Given the description of an element on the screen output the (x, y) to click on. 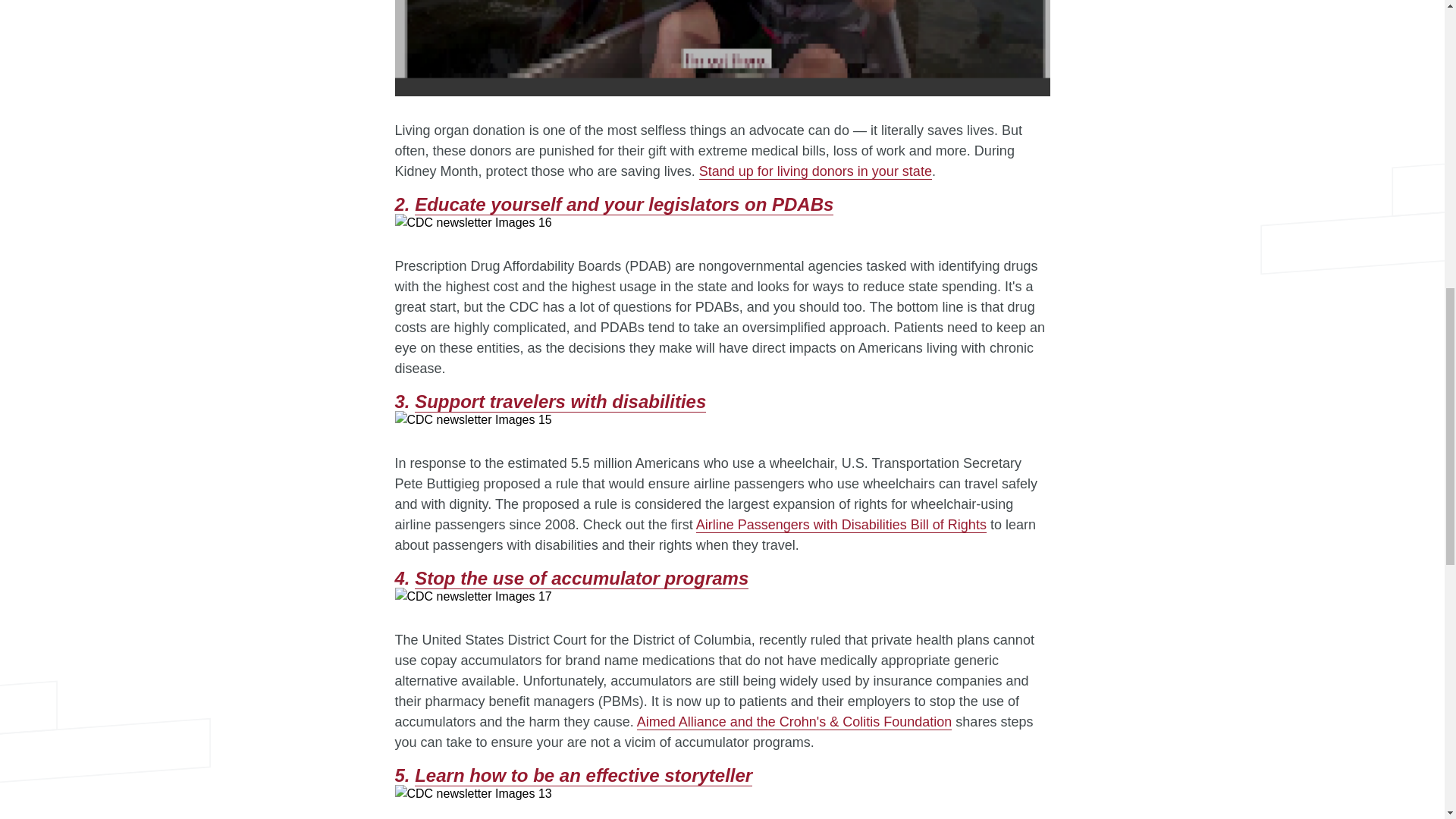
Learn how to be an effective storyteller (583, 775)
Airline Passengers with Disabilities Bill of Rights (841, 524)
Support travelers with disabilities (560, 401)
Stop the use of accumulator programs (581, 578)
Stand up for living donors in your state (814, 171)
Educate yourself and your legislators on PDABs (623, 204)
